Given the description of an element on the screen output the (x, y) to click on. 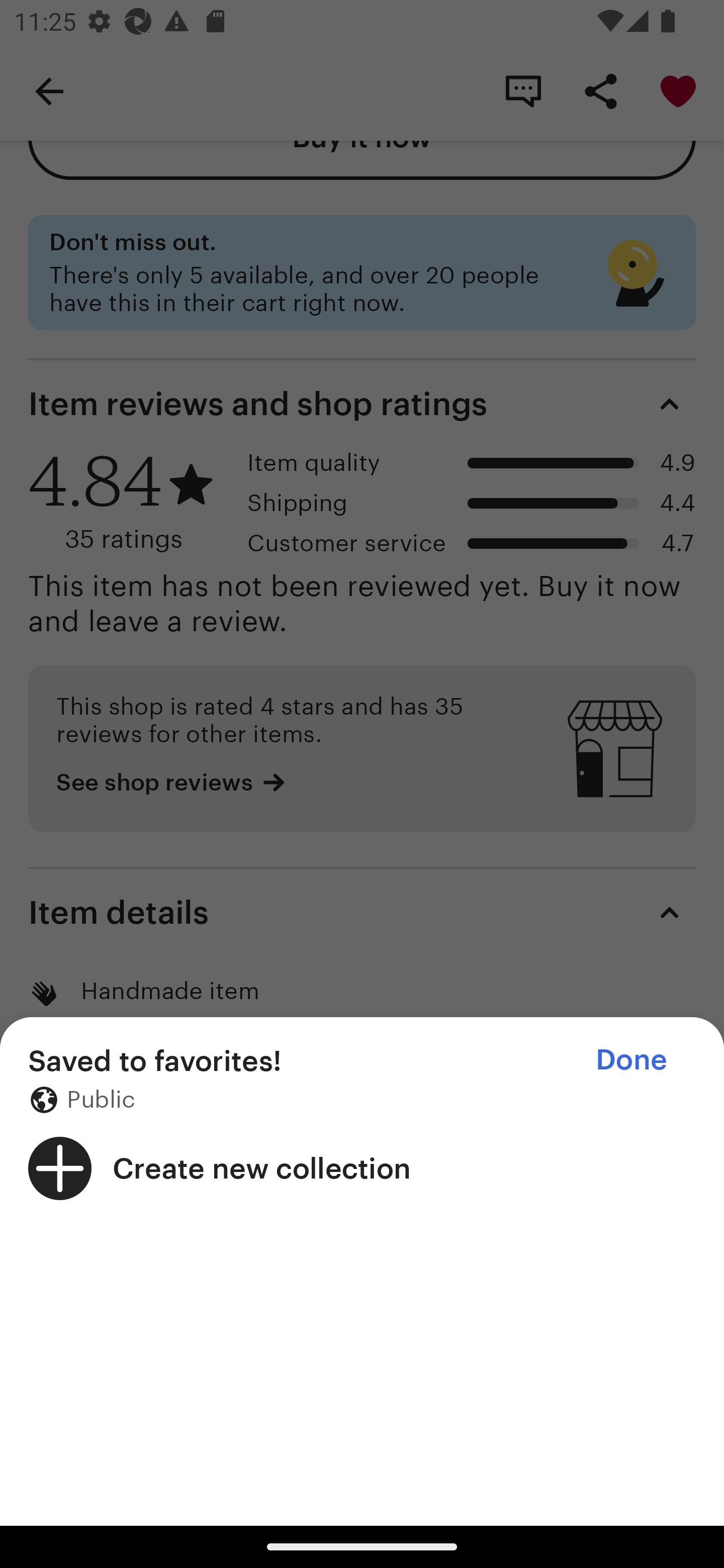
Done (630, 1059)
Create new collection (361, 1167)
